Given the description of an element on the screen output the (x, y) to click on. 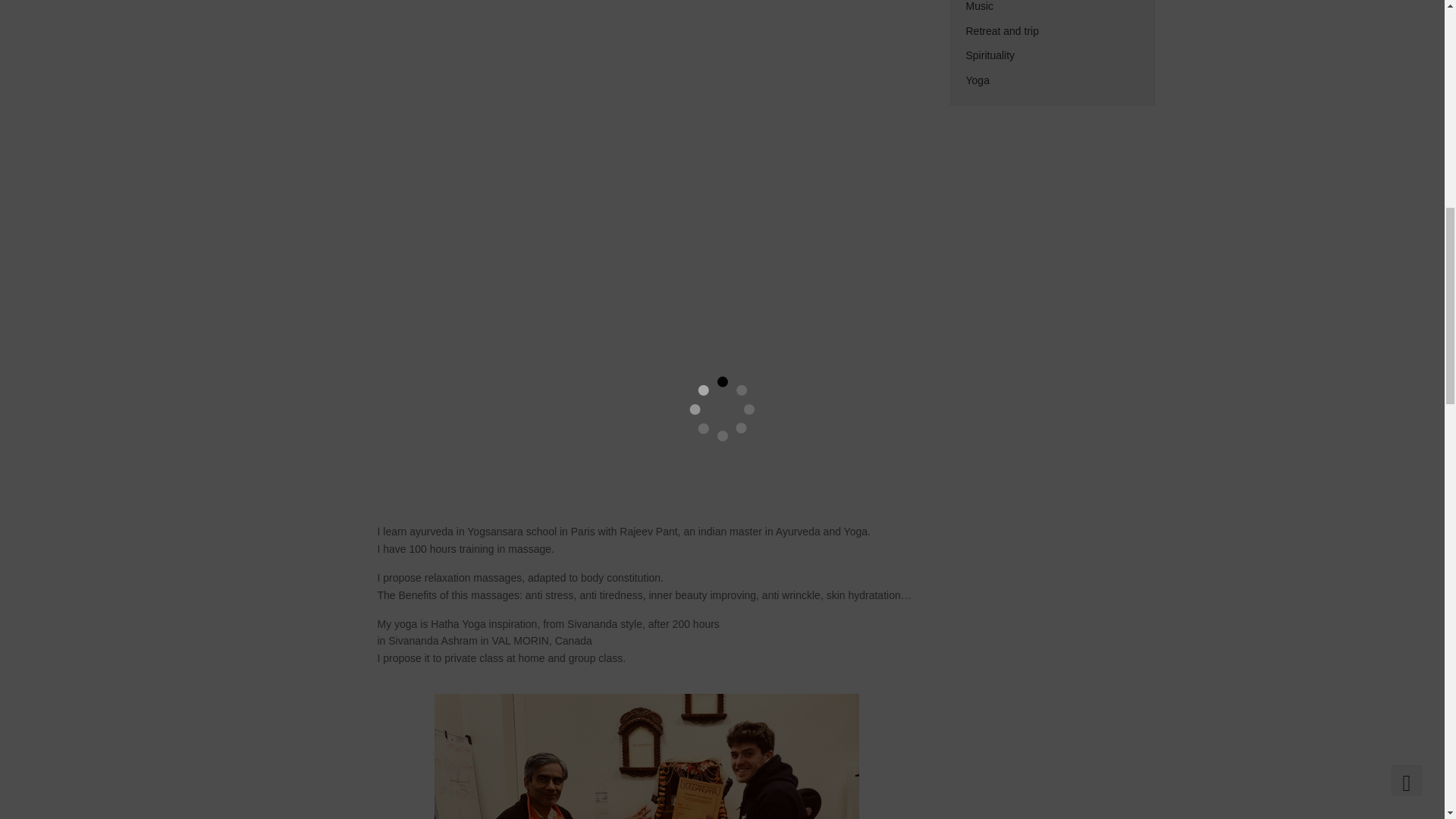
Retreat and trip (1002, 30)
Yoga (978, 80)
Spirituality (990, 55)
Music (980, 6)
